Given the description of an element on the screen output the (x, y) to click on. 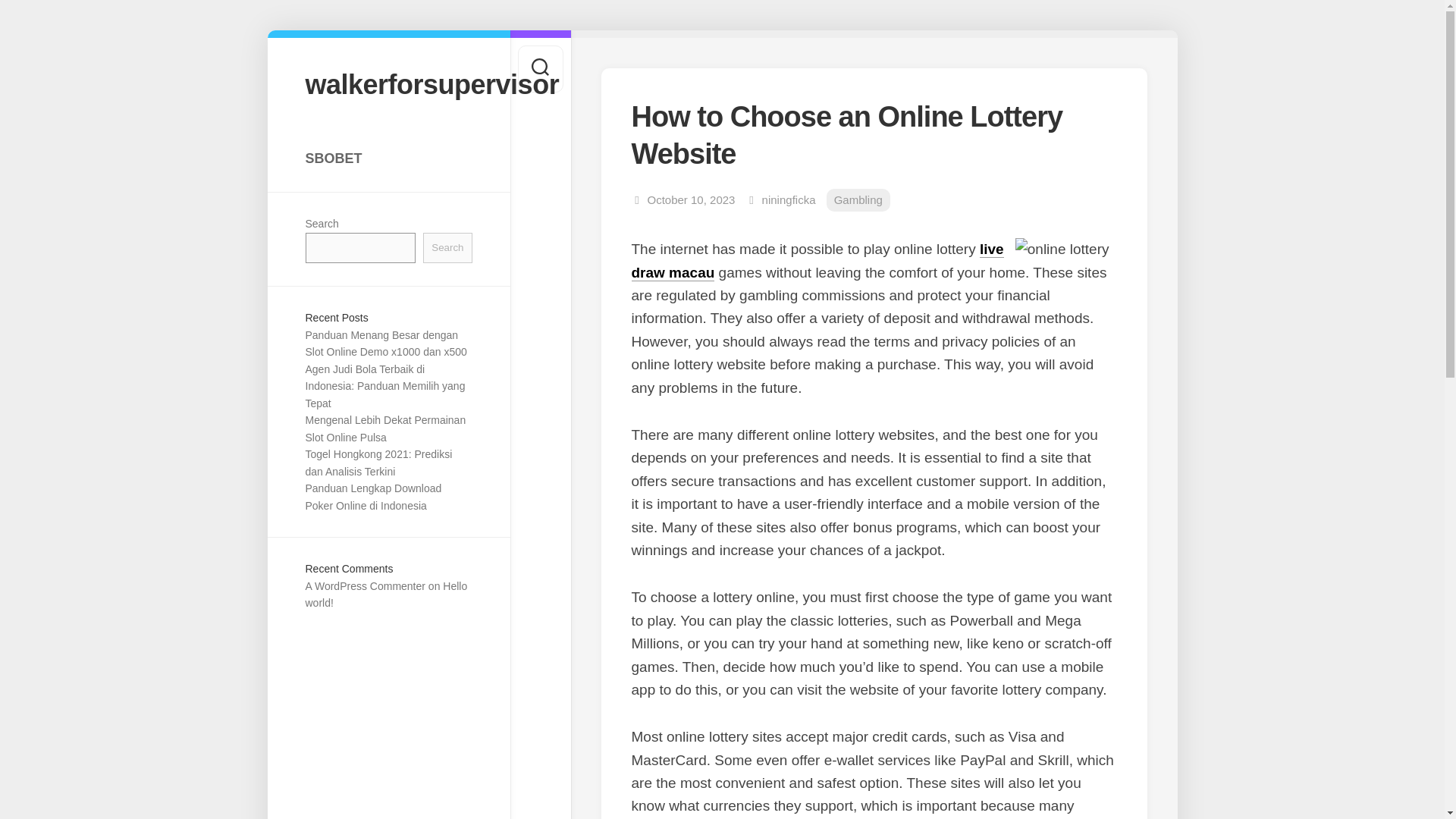
Search (447, 247)
Gambling (858, 200)
Mengenal Lebih Dekat Permainan Slot Online Pulsa (384, 428)
walkerforsupervisor (387, 83)
Panduan Lengkap Download Poker Online di Indonesia (372, 496)
niningficka (788, 199)
live draw macau (816, 260)
Togel Hongkong 2021: Prediksi dan Analisis Terkini (377, 462)
Panduan Menang Besar dengan Slot Online Demo x1000 dan x500 (384, 343)
Hello world! (385, 594)
SBOBET (387, 158)
A WordPress Commenter (364, 585)
Posts by niningficka (788, 199)
